Given the description of an element on the screen output the (x, y) to click on. 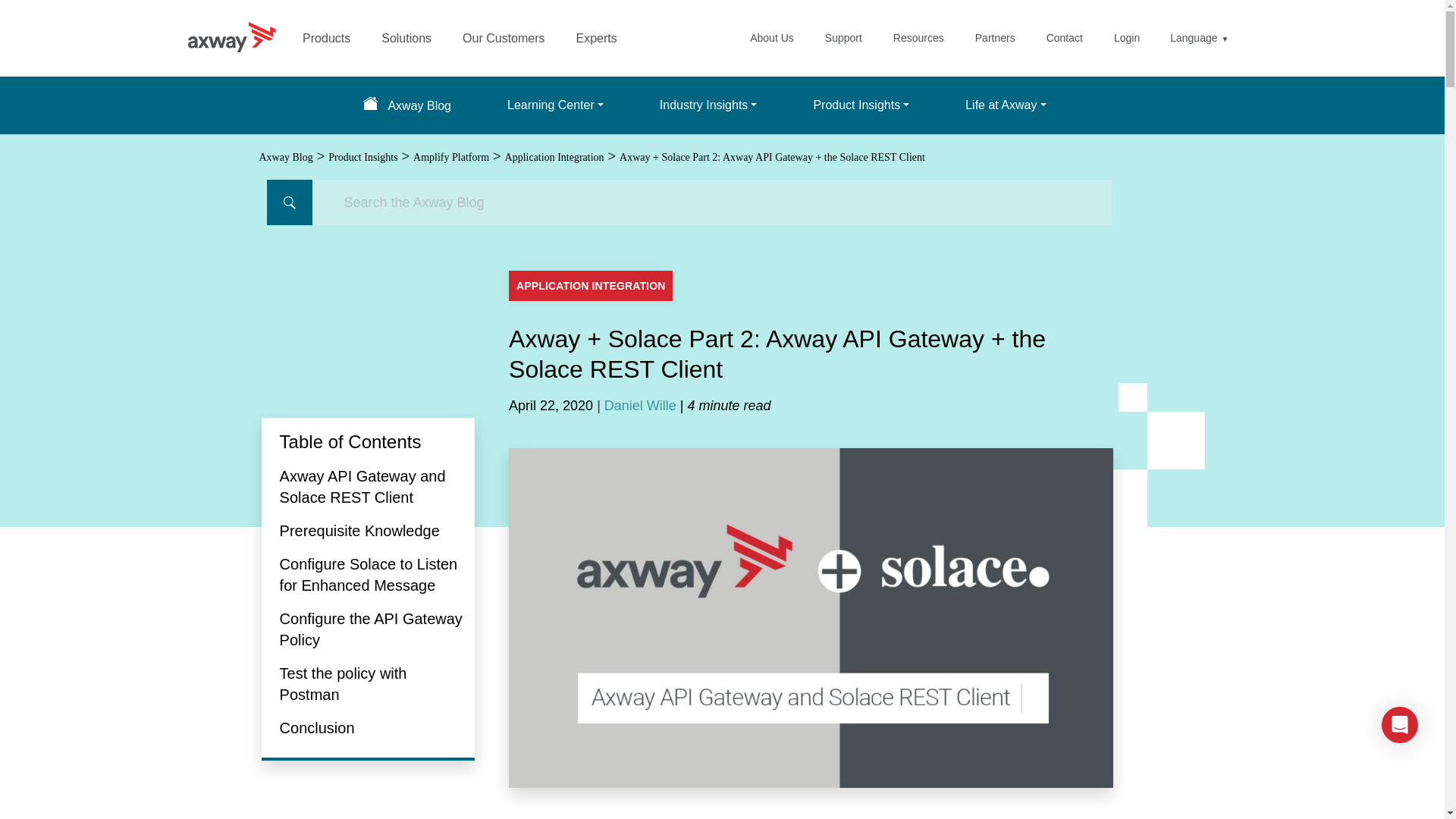
Solutions (405, 38)
Learning Center (555, 104)
Axway Blog (406, 105)
Products (326, 38)
